Given the description of an element on the screen output the (x, y) to click on. 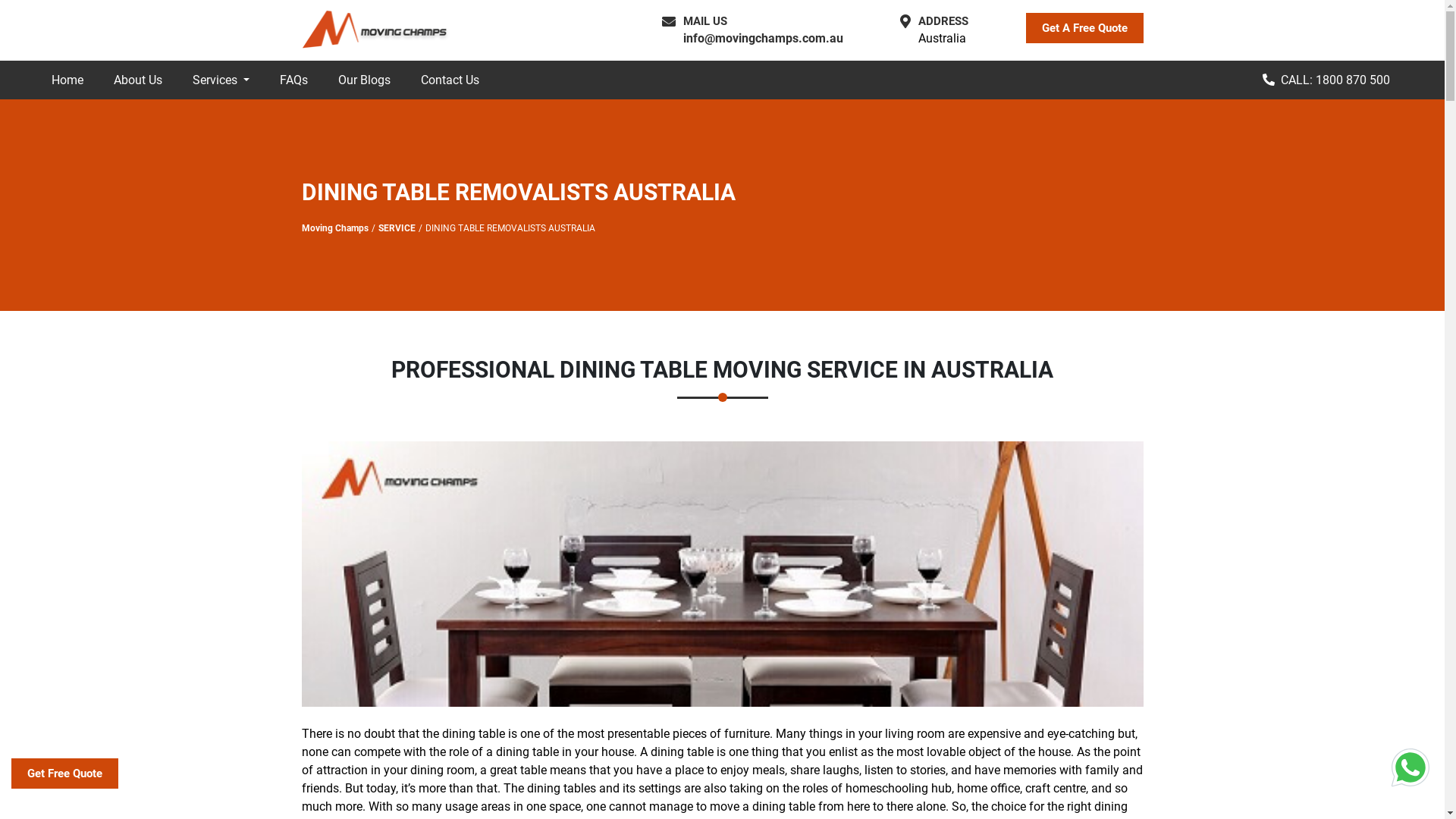
Our Blogs Element type: text (364, 79)
info@movingchamps.com.au Element type: text (762, 38)
Best Moving Company In Australia Element type: hover (377, 29)
Get Free Quote Element type: text (64, 773)
Contact Us Element type: text (449, 79)
About Us Element type: text (137, 79)
FAQs Element type: text (293, 79)
Contact Best Removalists in Australia Element type: hover (1410, 767)
CALL: 1800 870 500 Element type: text (1326, 79)
Moving Champs Element type: text (334, 228)
Home Element type: text (67, 79)
Get A Free Quote Element type: text (1083, 27)
SERVICE Element type: text (395, 228)
